Given the description of an element on the screen output the (x, y) to click on. 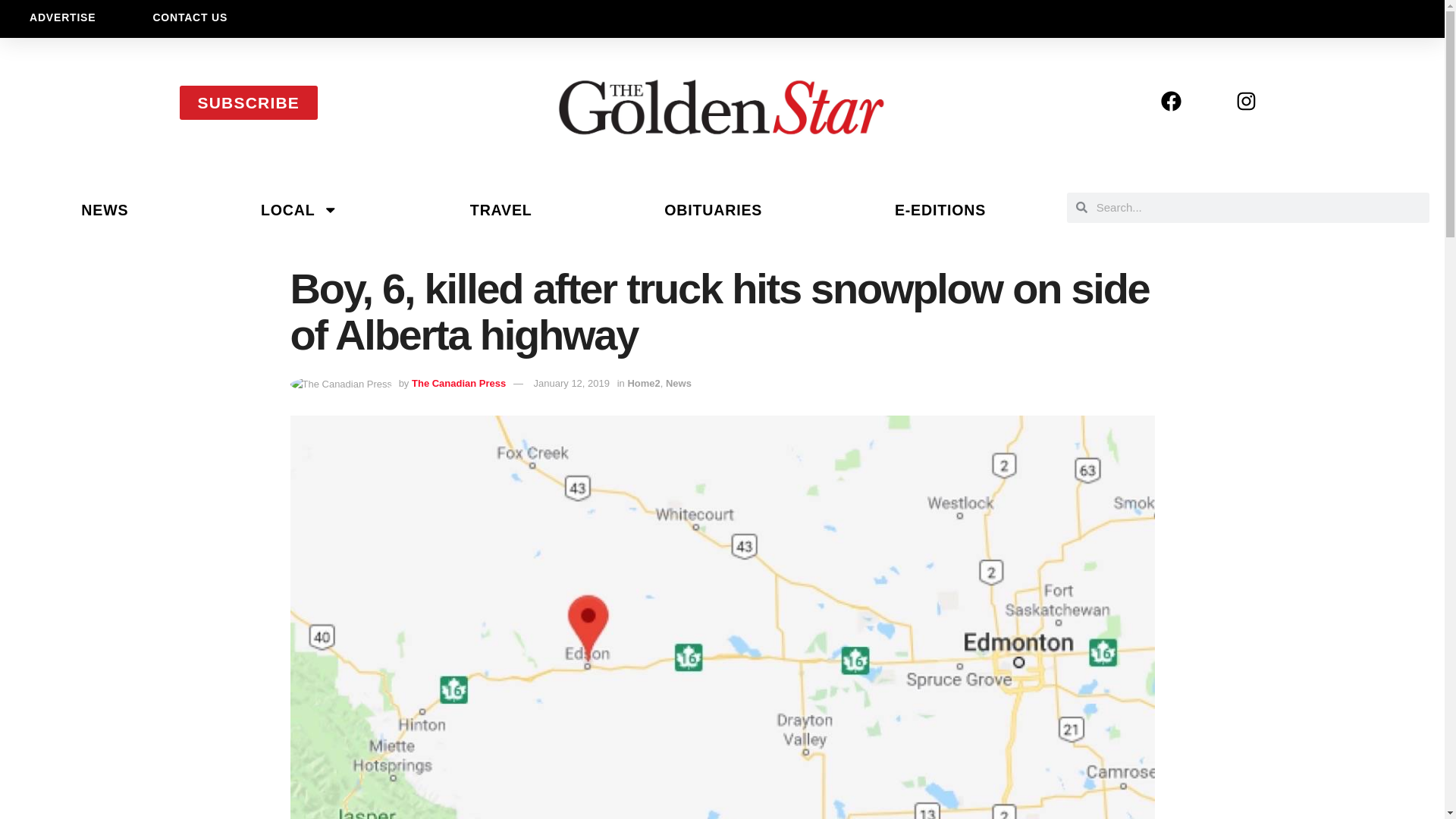
NEWS (104, 209)
LOCAL (299, 209)
TRAVEL (499, 209)
E-EDITIONS (940, 209)
Home2 (643, 383)
CONTACT US (189, 17)
OBITUARIES (713, 209)
SUBSCRIBE (248, 102)
January 12, 2019 (572, 383)
The Canadian Press (458, 383)
ADVERTISE (62, 17)
News (678, 383)
